Given the description of an element on the screen output the (x, y) to click on. 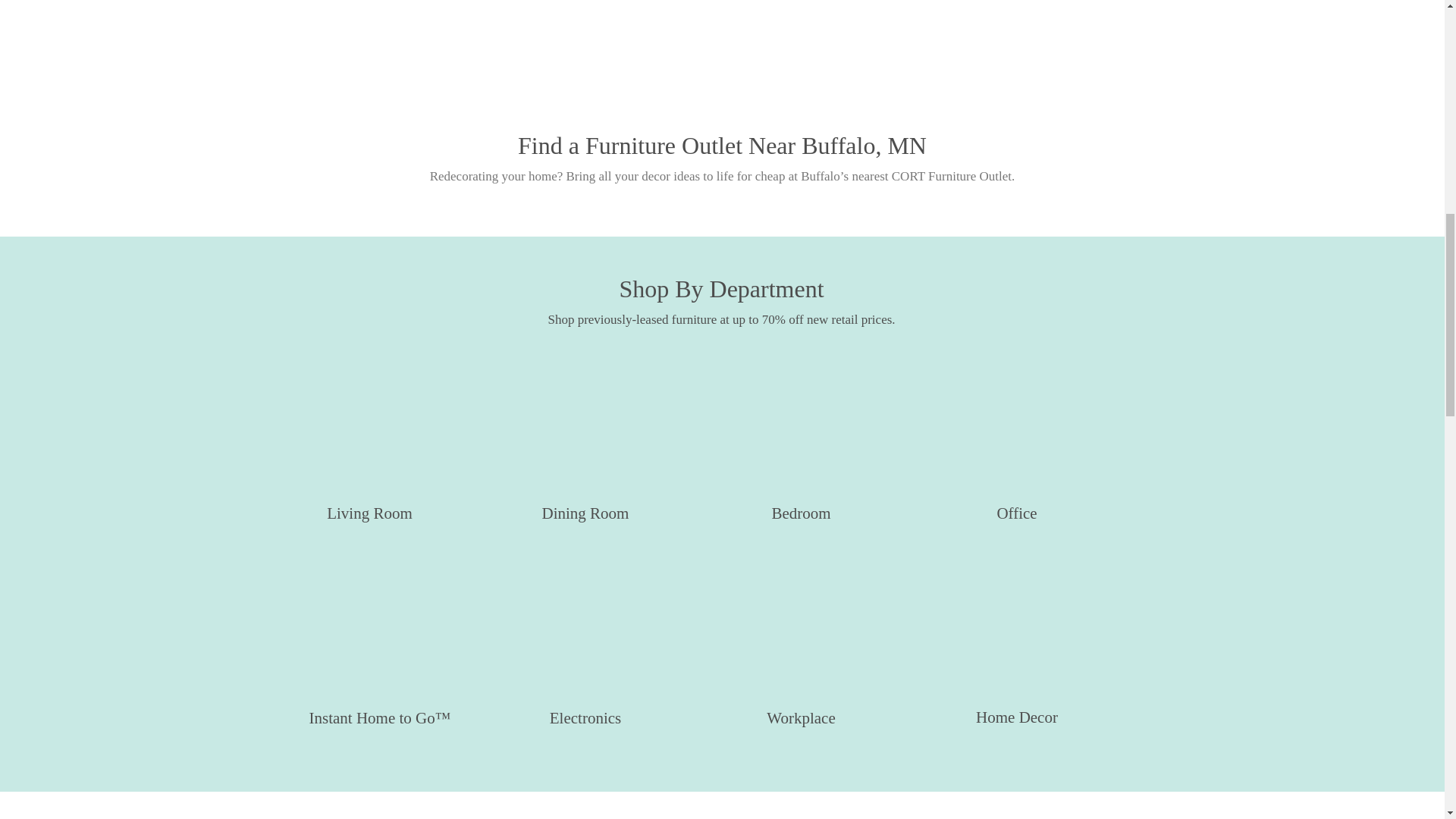
Living Room (369, 444)
